Given the description of an element on the screen output the (x, y) to click on. 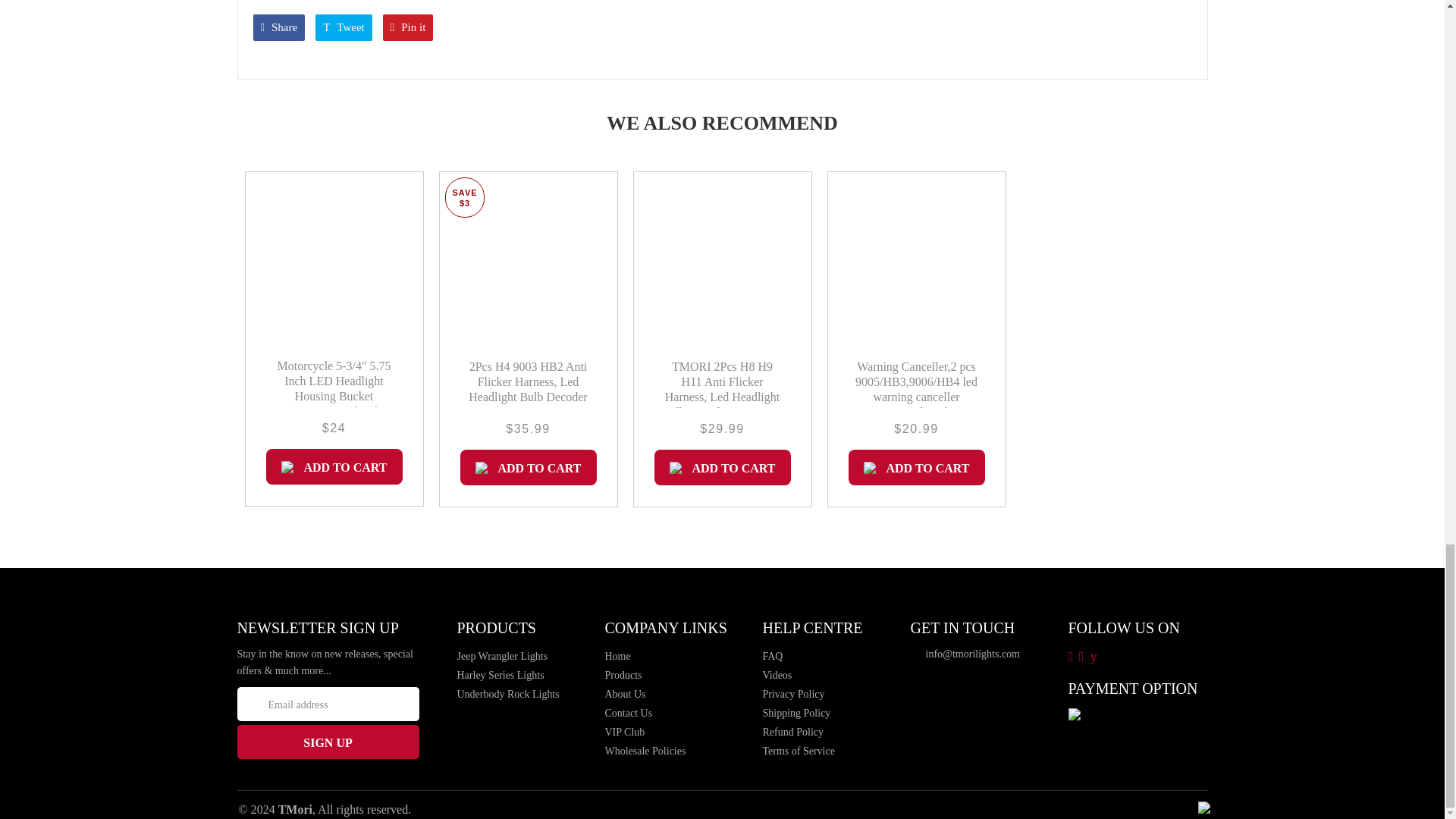
Tweet on Twitter (343, 27)
Share on Facebook (279, 27)
Pin on Pinterest (407, 27)
